Given the description of an element on the screen output the (x, y) to click on. 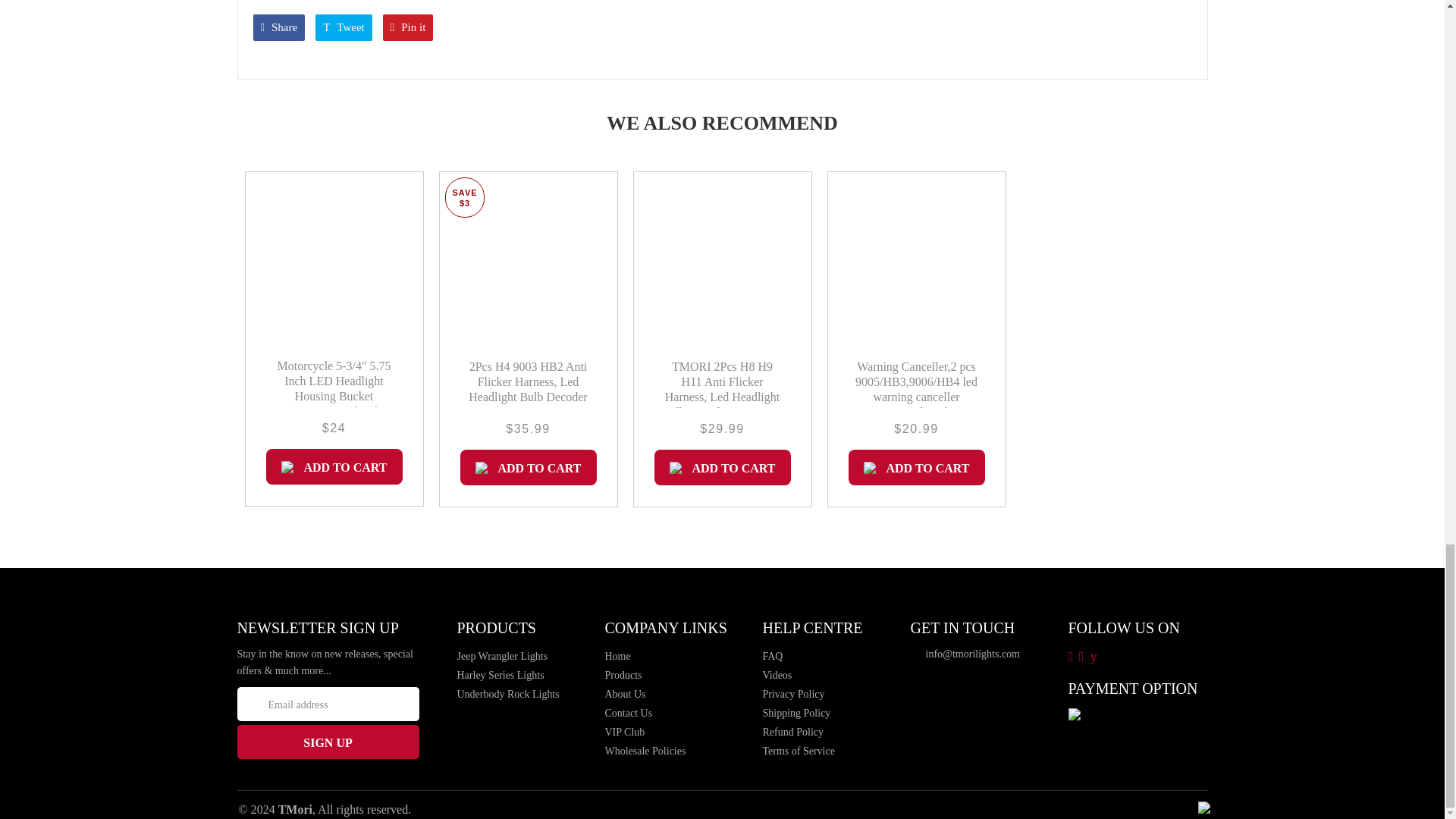
Tweet on Twitter (343, 27)
Share on Facebook (279, 27)
Pin on Pinterest (407, 27)
